Given the description of an element on the screen output the (x, y) to click on. 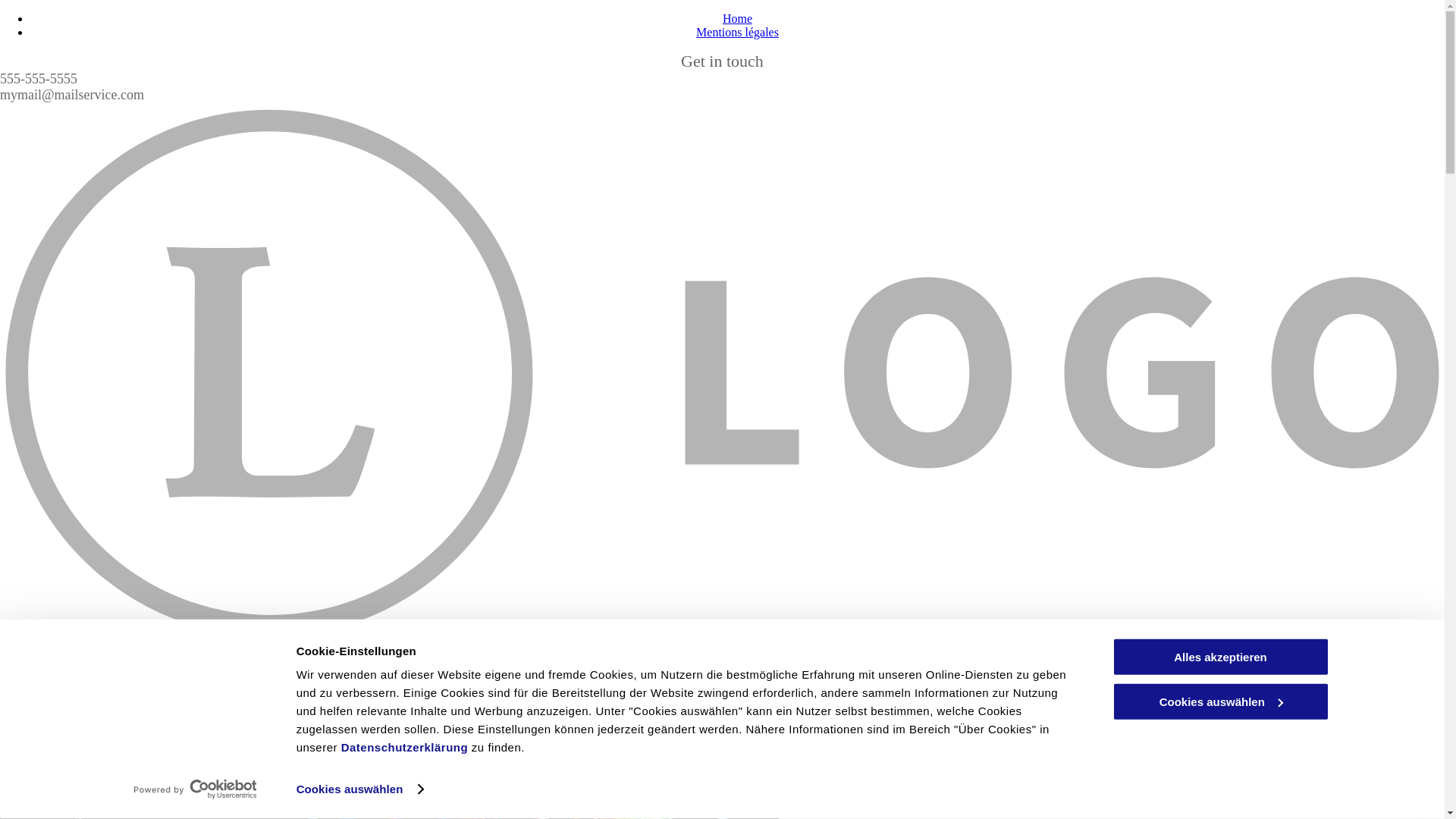
Alles akzeptieren Element type: text (1219, 656)
Home Element type: text (737, 18)
